Given the description of an element on the screen output the (x, y) to click on. 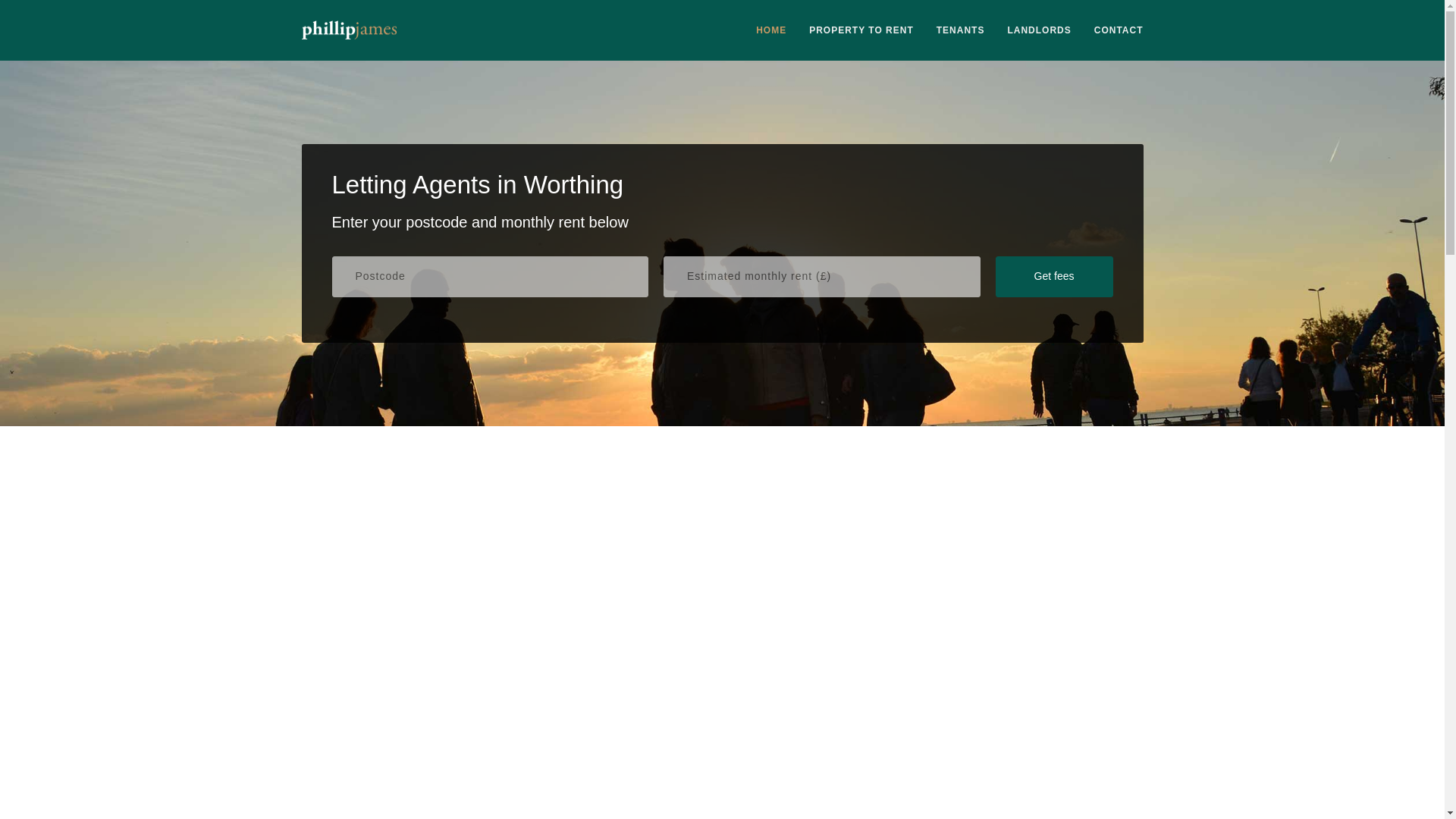
LANDLORDS (1038, 30)
Get fees (1053, 276)
PROPERTY TO RENT (861, 30)
